Given the description of an element on the screen output the (x, y) to click on. 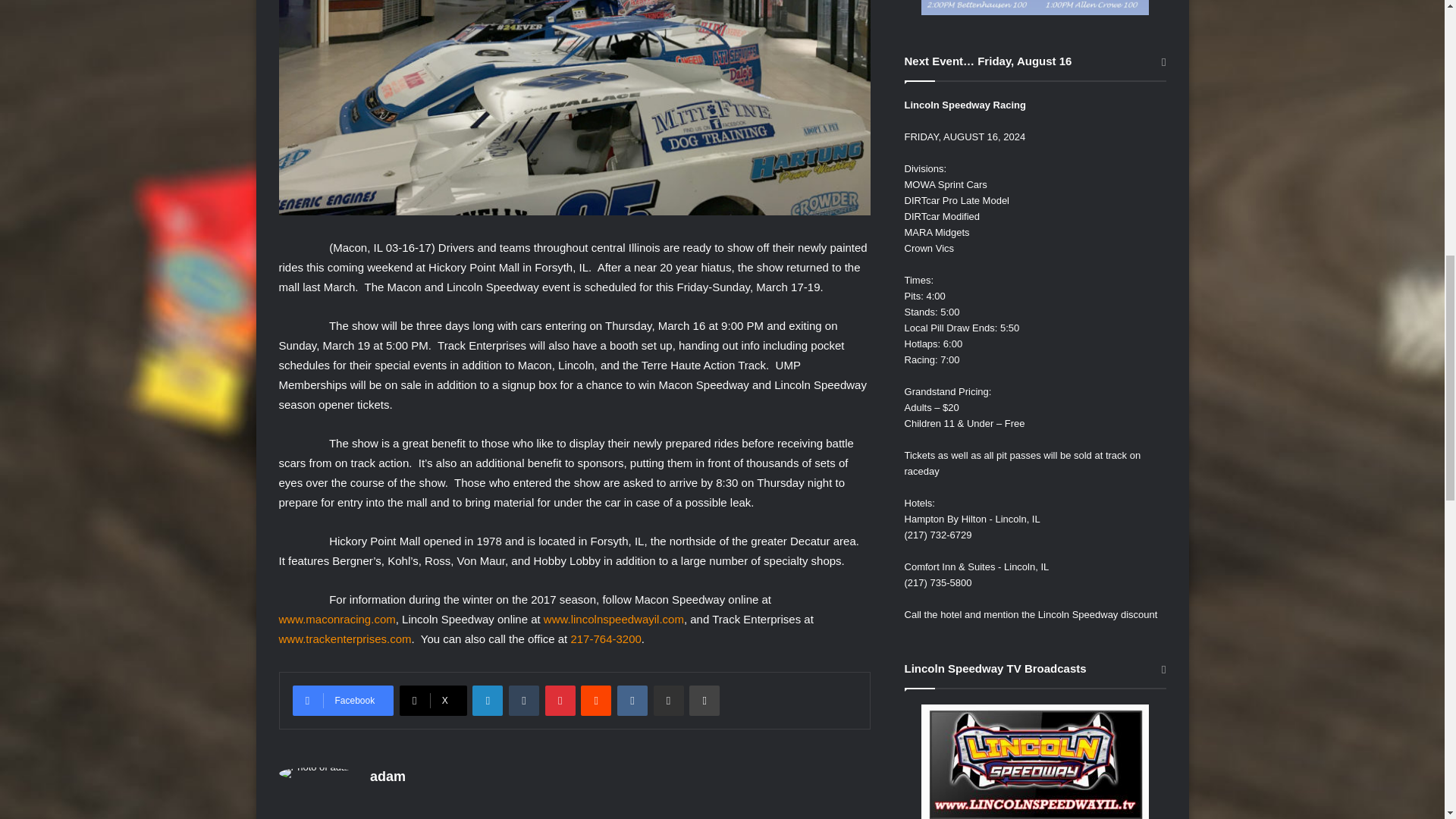
Tumblr (523, 700)
Facebook (343, 700)
VKontakte (632, 700)
Reddit (595, 700)
Pinterest (559, 700)
Friday, August 16 (1034, 7)
X (432, 700)
Share via Email (668, 700)
Print (703, 700)
LinkedIn (486, 700)
